Given the description of an element on the screen output the (x, y) to click on. 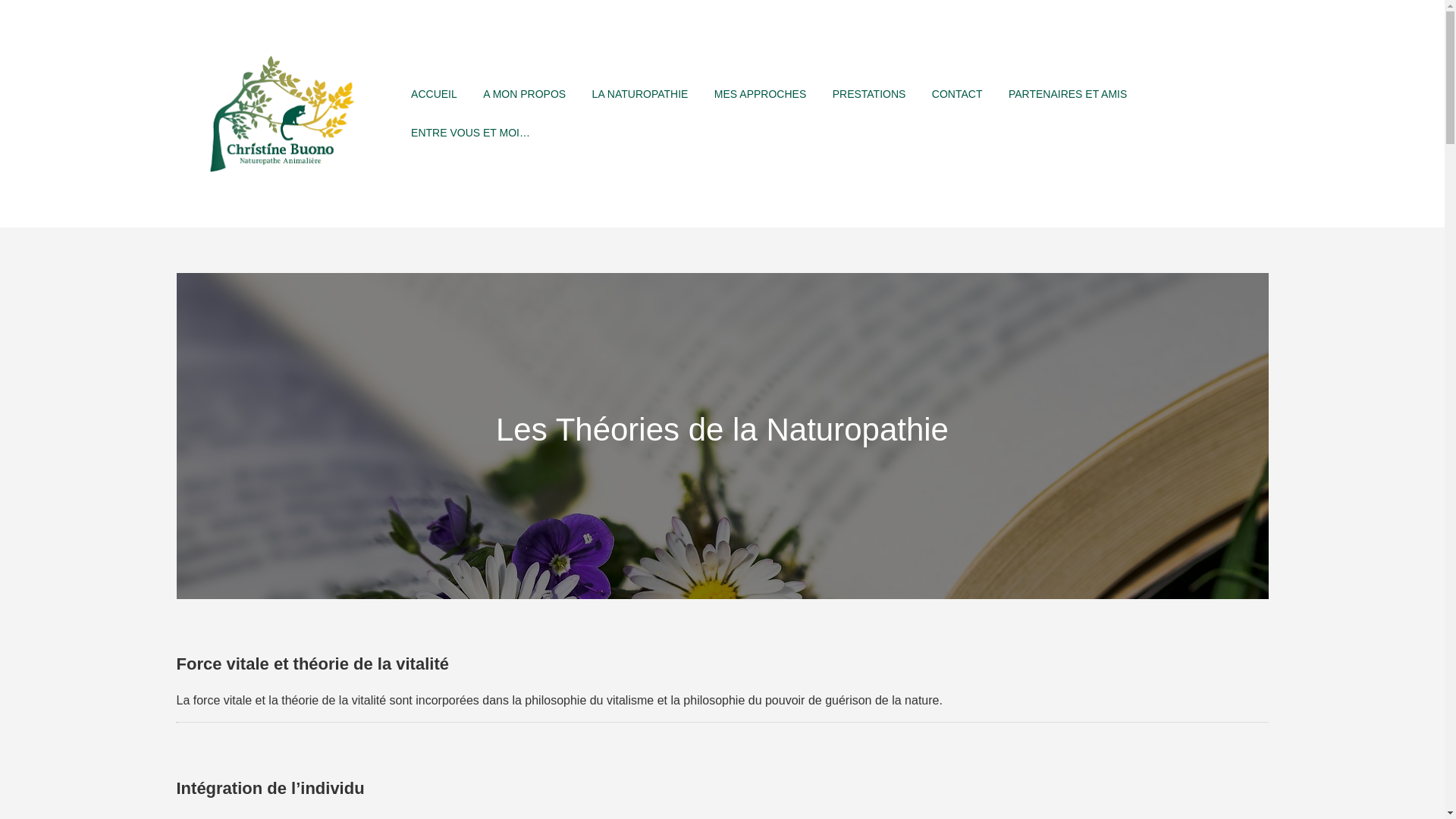
PRESTATIONS Element type: text (869, 94)
MES APPROCHES Element type: text (760, 94)
CONTACT Element type: text (956, 94)
LA NATUROPATHIE Element type: text (640, 94)
A MON PROPOS Element type: text (524, 94)
PARTENAIRES ET AMIS Element type: text (1067, 94)
ACCUEIL Element type: text (434, 94)
